Given the description of an element on the screen output the (x, y) to click on. 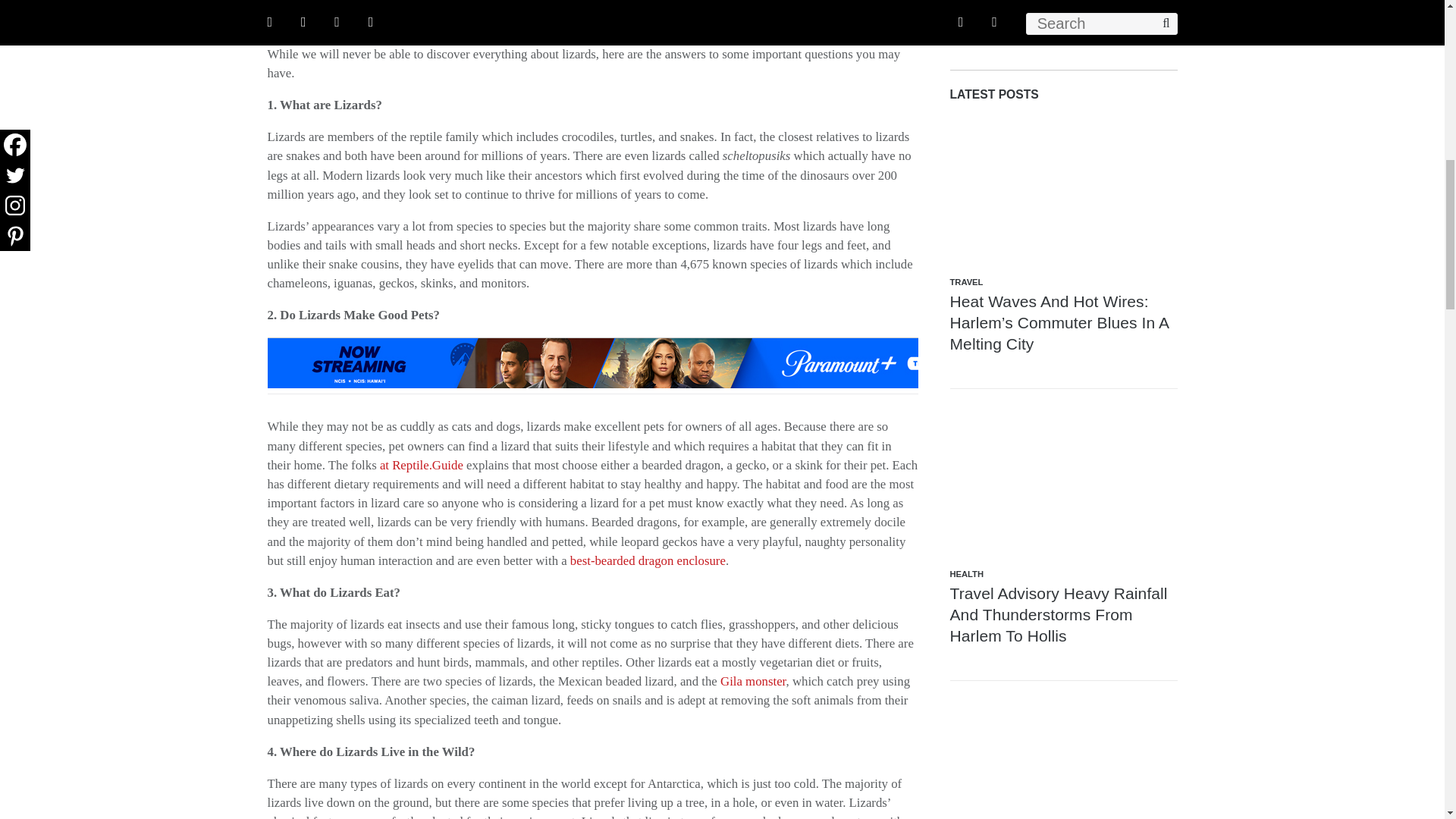
best-bearded dragon enclosure (647, 560)
at Reptile.Guide (421, 464)
Gila monster (753, 681)
